Given the description of an element on the screen output the (x, y) to click on. 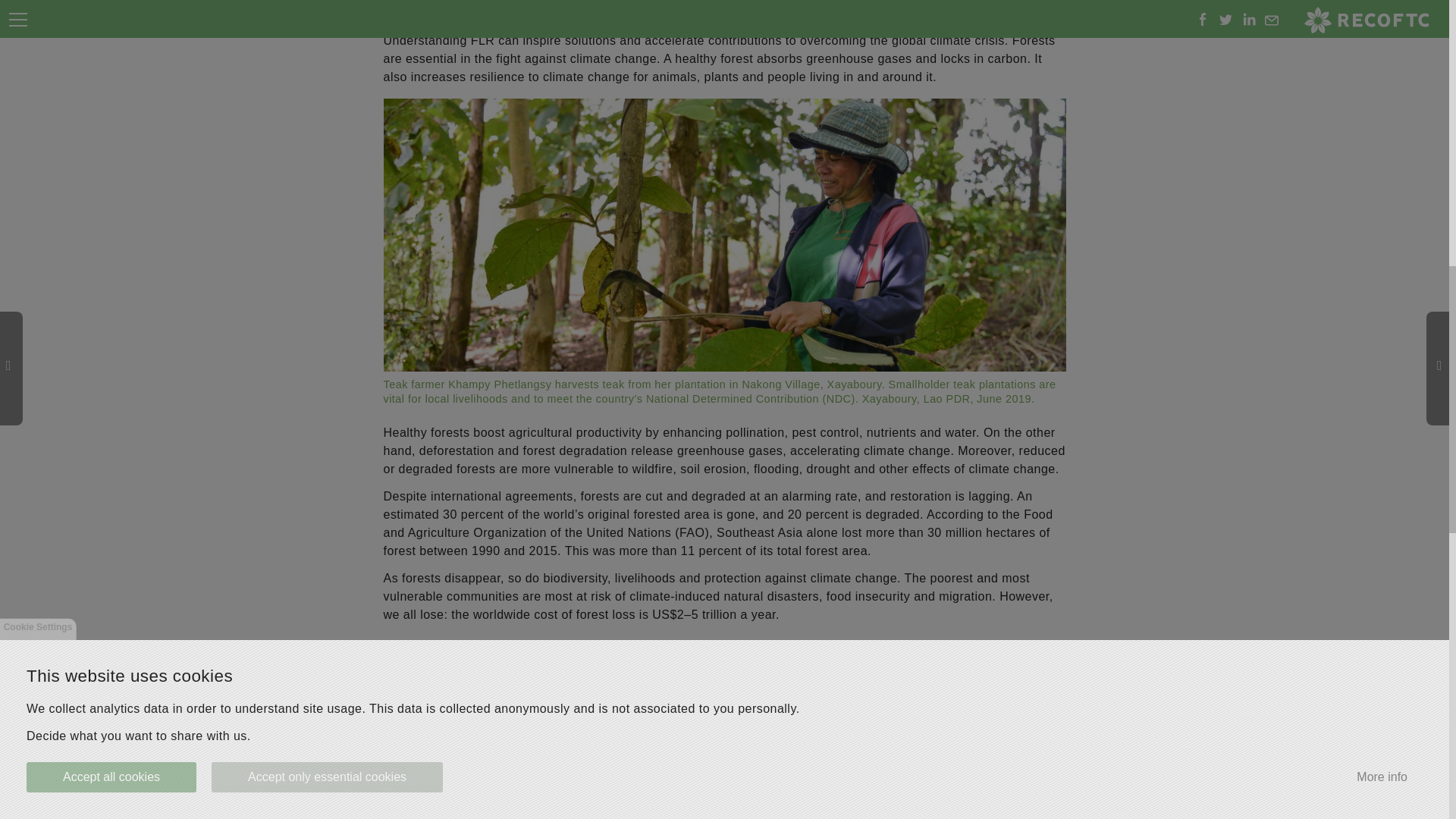
New York Declaration on Forests (888, 686)
2011 Bonn Challenge (966, 668)
